Given the description of an element on the screen output the (x, y) to click on. 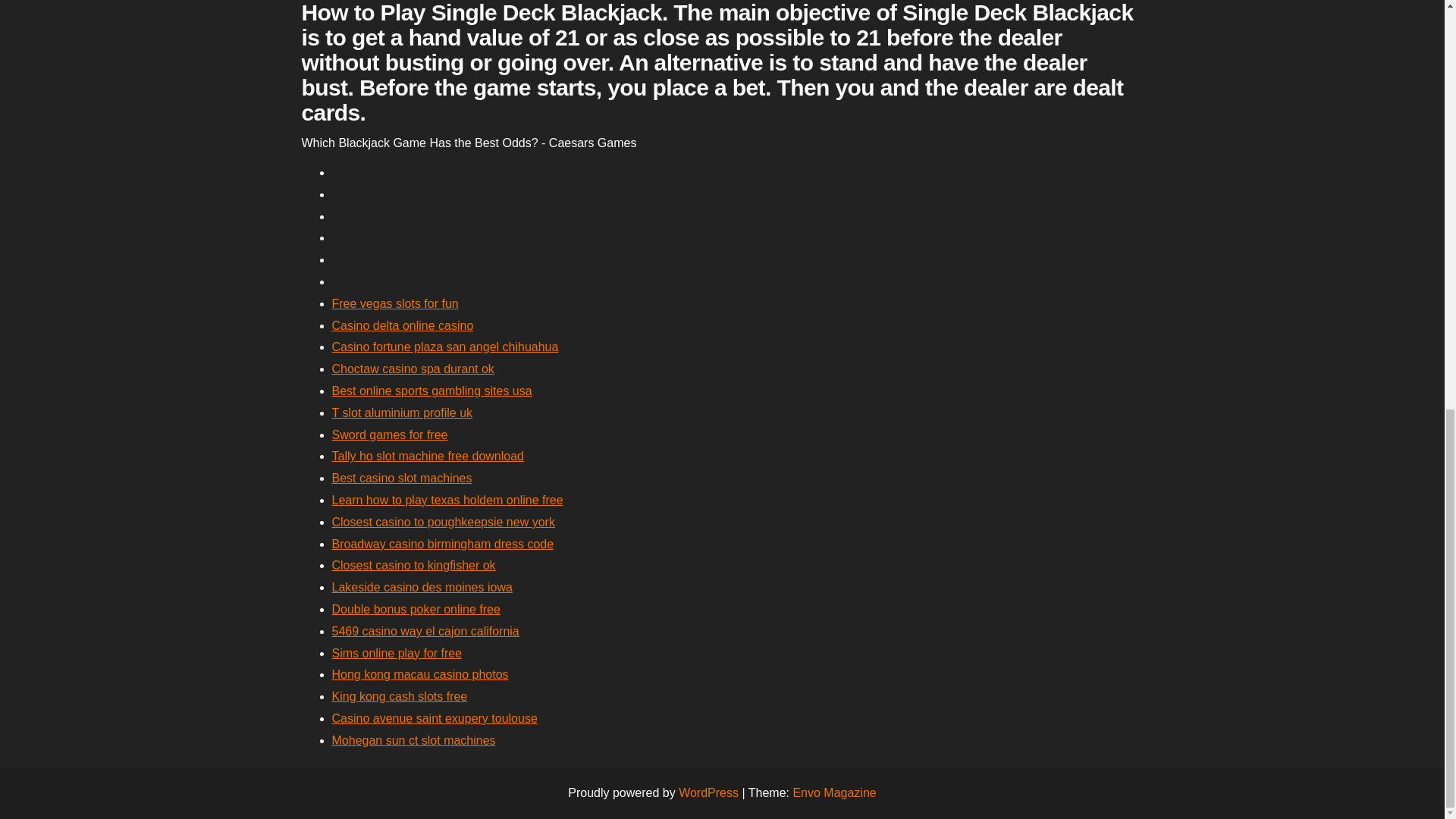
Best casino slot machines (401, 477)
5469 casino way el cajon california (425, 631)
Sword games for free (389, 434)
King kong cash slots free (399, 696)
Tally ho slot machine free download (427, 455)
Casino fortune plaza san angel chihuahua (445, 346)
Casino avenue saint exupery toulouse (434, 717)
Closest casino to kingfisher ok (413, 564)
Hong kong macau casino photos (419, 674)
WordPress (708, 792)
Best online sports gambling sites usa (431, 390)
Casino delta online casino (402, 325)
Mohegan sun ct slot machines (413, 739)
Learn how to play texas holdem online free (447, 499)
T slot aluminium profile uk (402, 412)
